Given the description of an element on the screen output the (x, y) to click on. 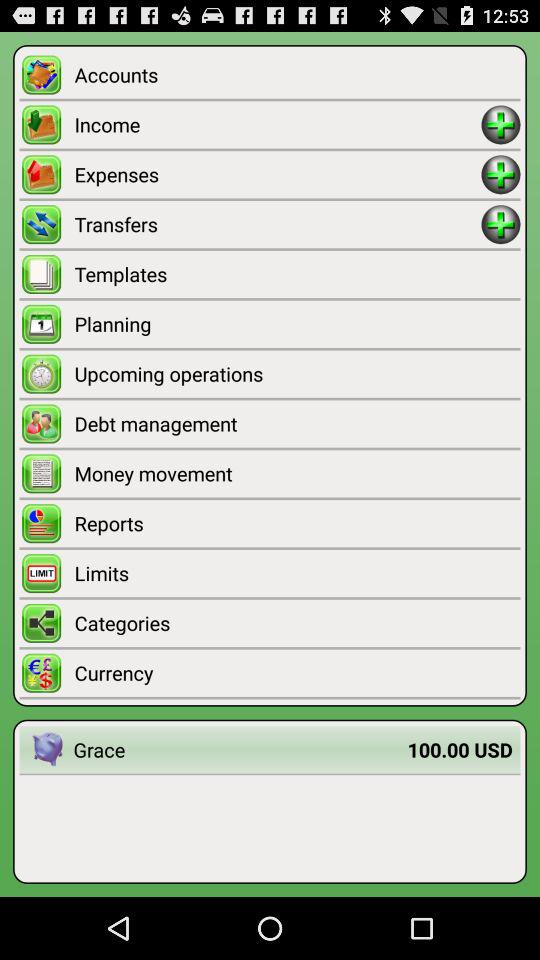
tap the item next to the 100.00 usd (240, 749)
